Given the description of an element on the screen output the (x, y) to click on. 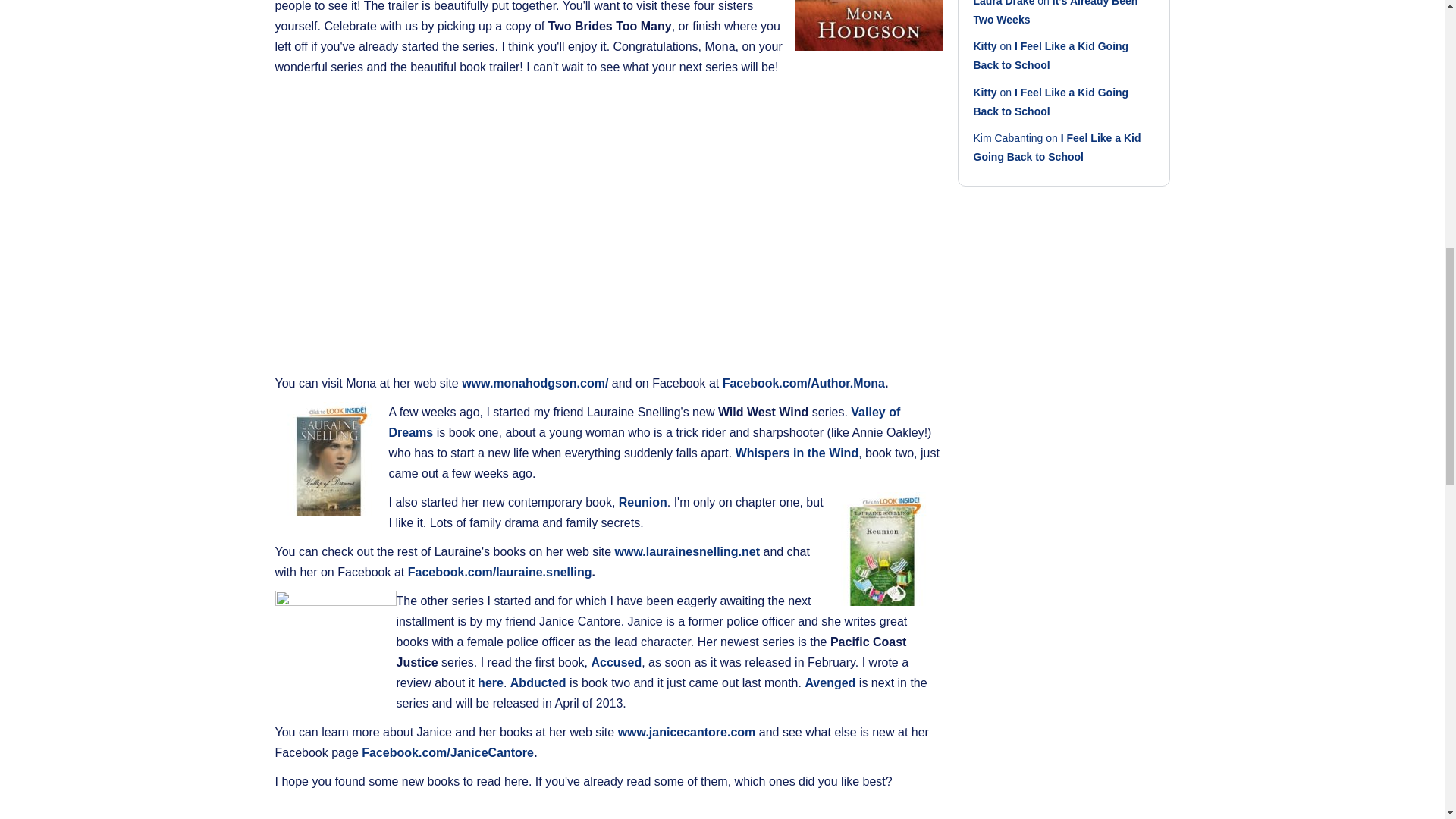
Accused cover (335, 650)
Reunion (885, 549)
Whispers in the Wind (797, 452)
Abducted (538, 682)
Valley of Dreams (643, 421)
here (490, 682)
Avenged (830, 682)
Valley of Dreams (331, 458)
www.laurainesnelling.net (687, 551)
